Given the description of an element on the screen output the (x, y) to click on. 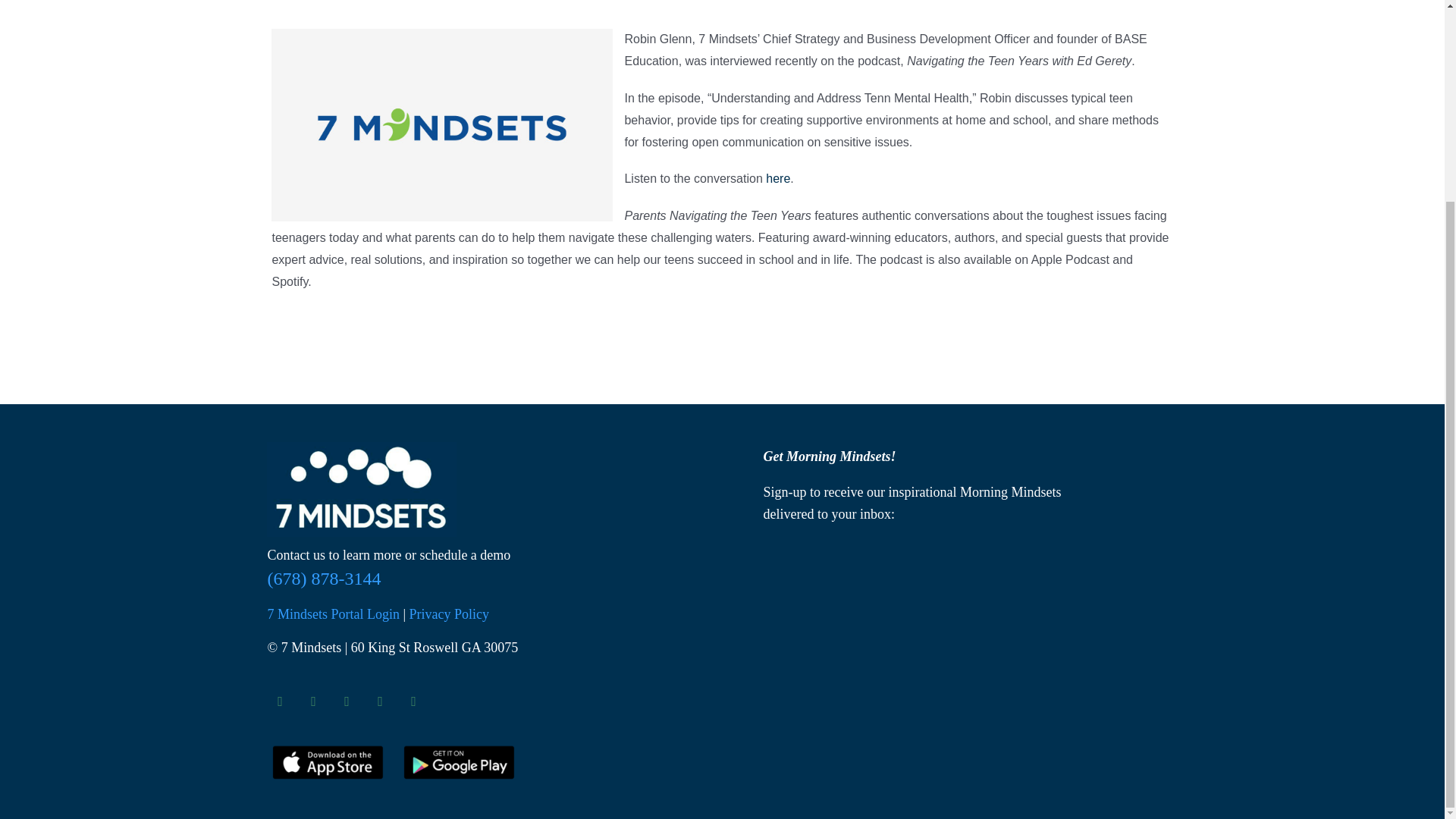
Facebook (279, 701)
Instagram (346, 701)
Form 0 (921, 590)
X (312, 701)
LinkedIn (413, 701)
YouTube (379, 701)
